Given the description of an element on the screen output the (x, y) to click on. 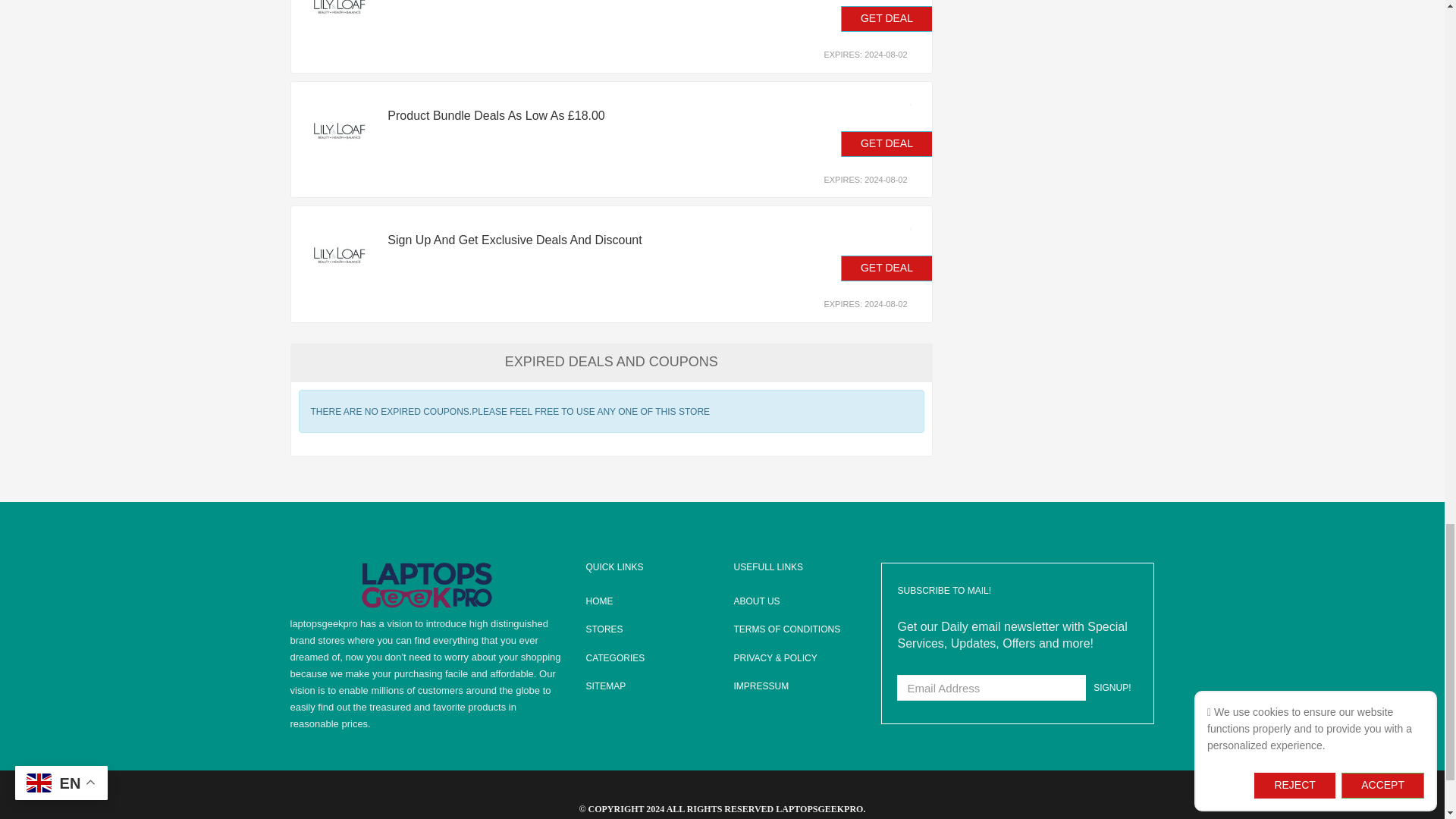
GET DEAL (887, 18)
Sign Up And Get Exclusive Deals And Discount (576, 240)
GET DEAL (887, 144)
GET DEAL (887, 268)
